Given the description of an element on the screen output the (x, y) to click on. 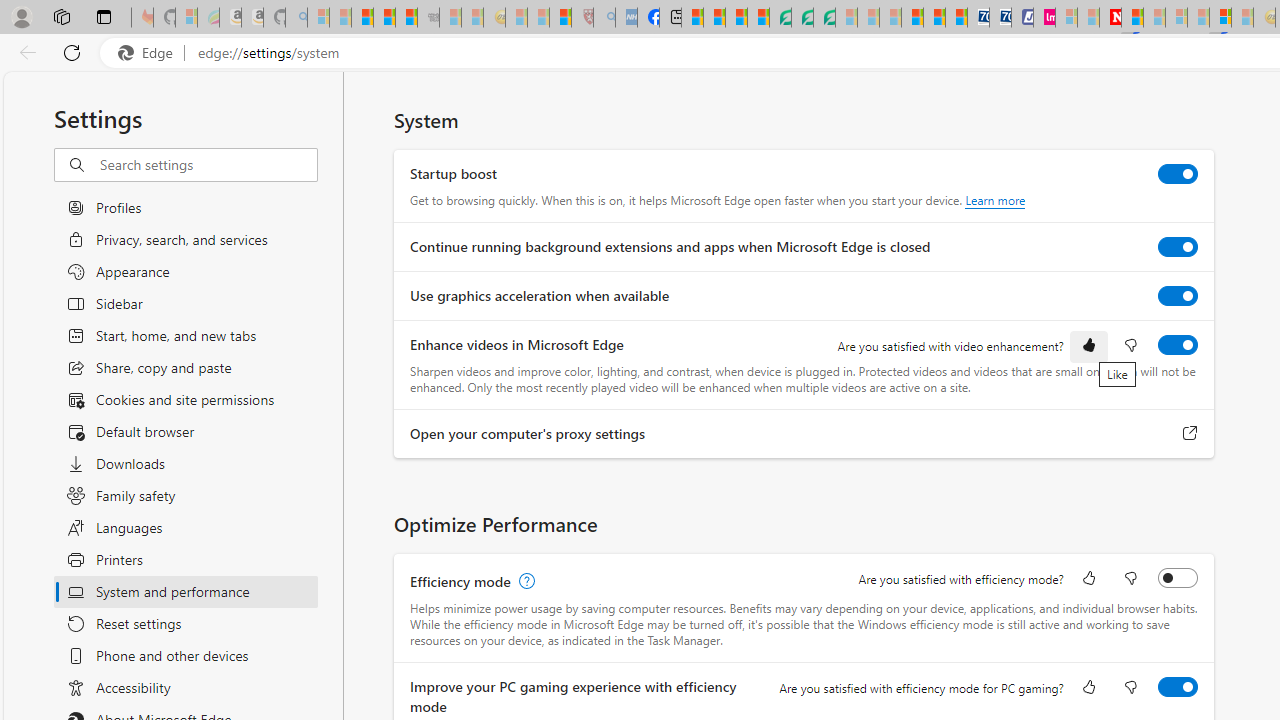
Improve your PC gaming experience with efficiency mode (1178, 686)
Latest Politics News & Archive | Newsweek.com (1110, 17)
Startup boost (1178, 174)
